Given the description of an element on the screen output the (x, y) to click on. 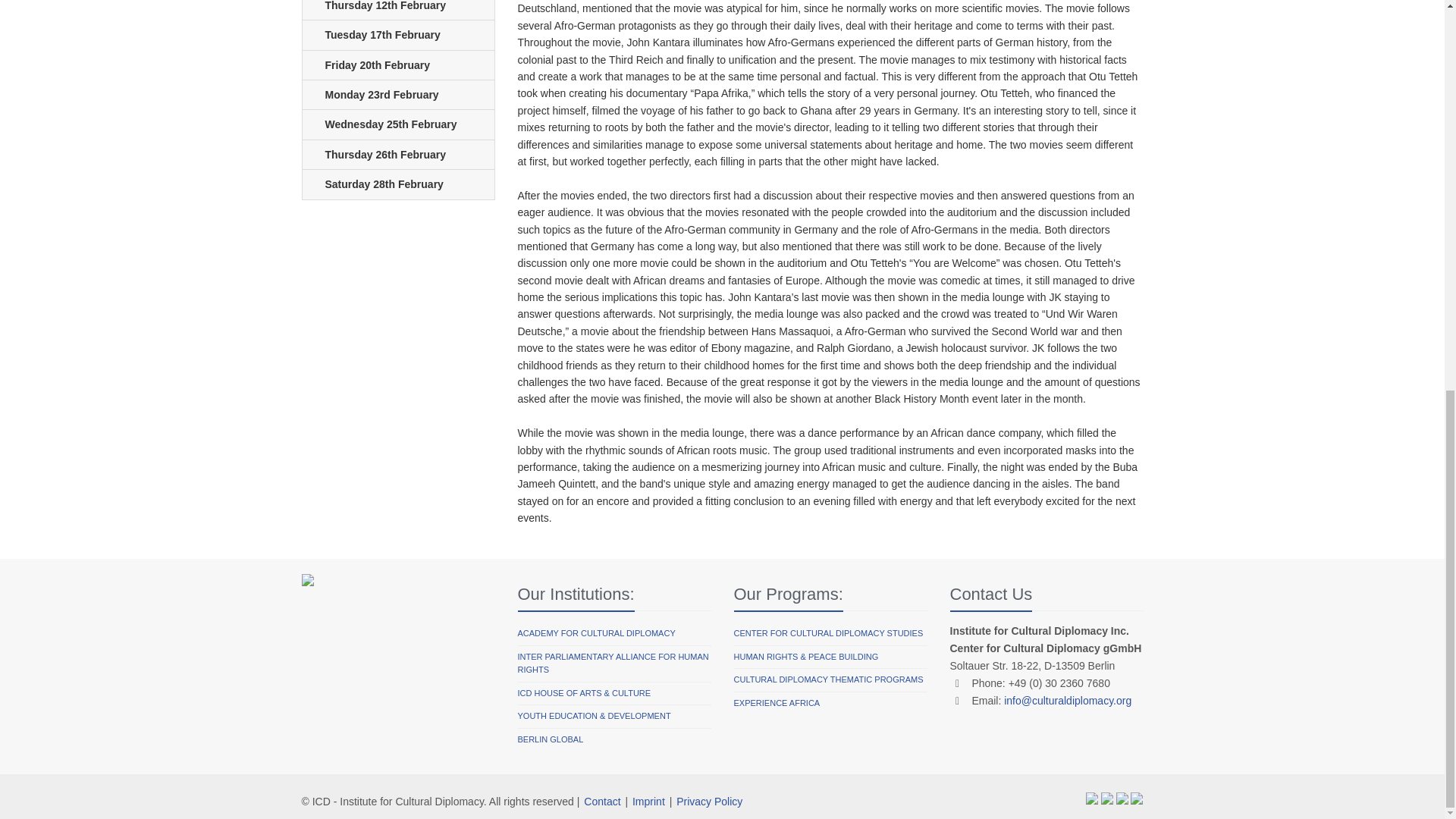
ACADEMY FOR CULTURAL DIPLOMACY (595, 633)
INTER PARLIAMENTARY ALLIANCE FOR HUMAN RIGHTS (613, 663)
Saturday 28th February (397, 184)
Thursday 12th February (397, 10)
Friday 20th February (397, 65)
Tuesday 17th February (397, 34)
Wednesday 25th February (397, 124)
Thursday 26th February (397, 154)
Monday 23rd February (397, 94)
